Given the description of an element on the screen output the (x, y) to click on. 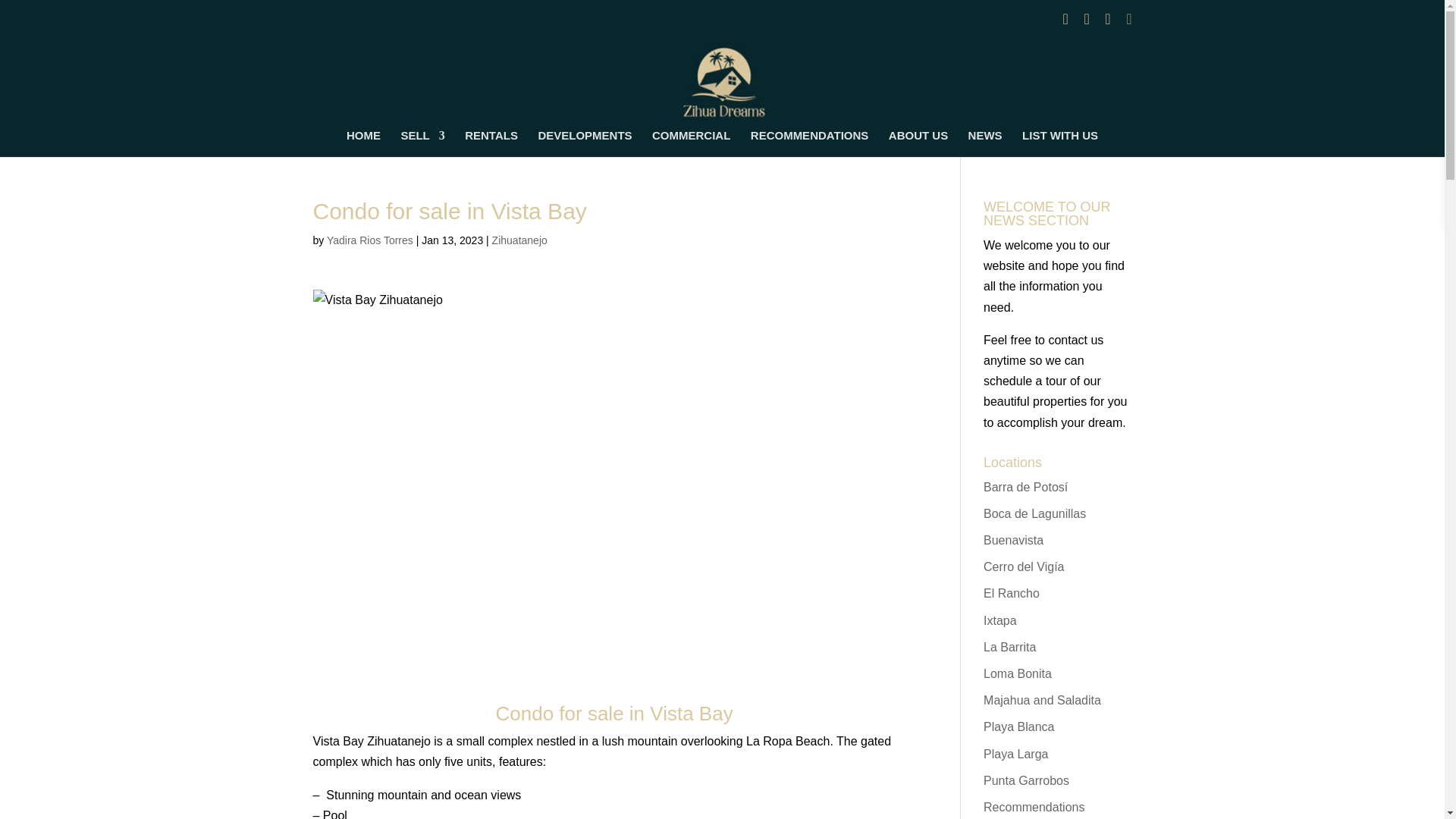
HOME (363, 143)
RECOMMENDATIONS (810, 143)
SELL (422, 143)
COMMERCIAL (691, 143)
DEVELOPMENTS (584, 143)
RENTALS (491, 143)
Yadira Rios Torres (369, 240)
ABOUT US (917, 143)
Posts by Yadira Rios Torres (369, 240)
LIST WITH US (1059, 143)
NEWS (985, 143)
